Given the description of an element on the screen output the (x, y) to click on. 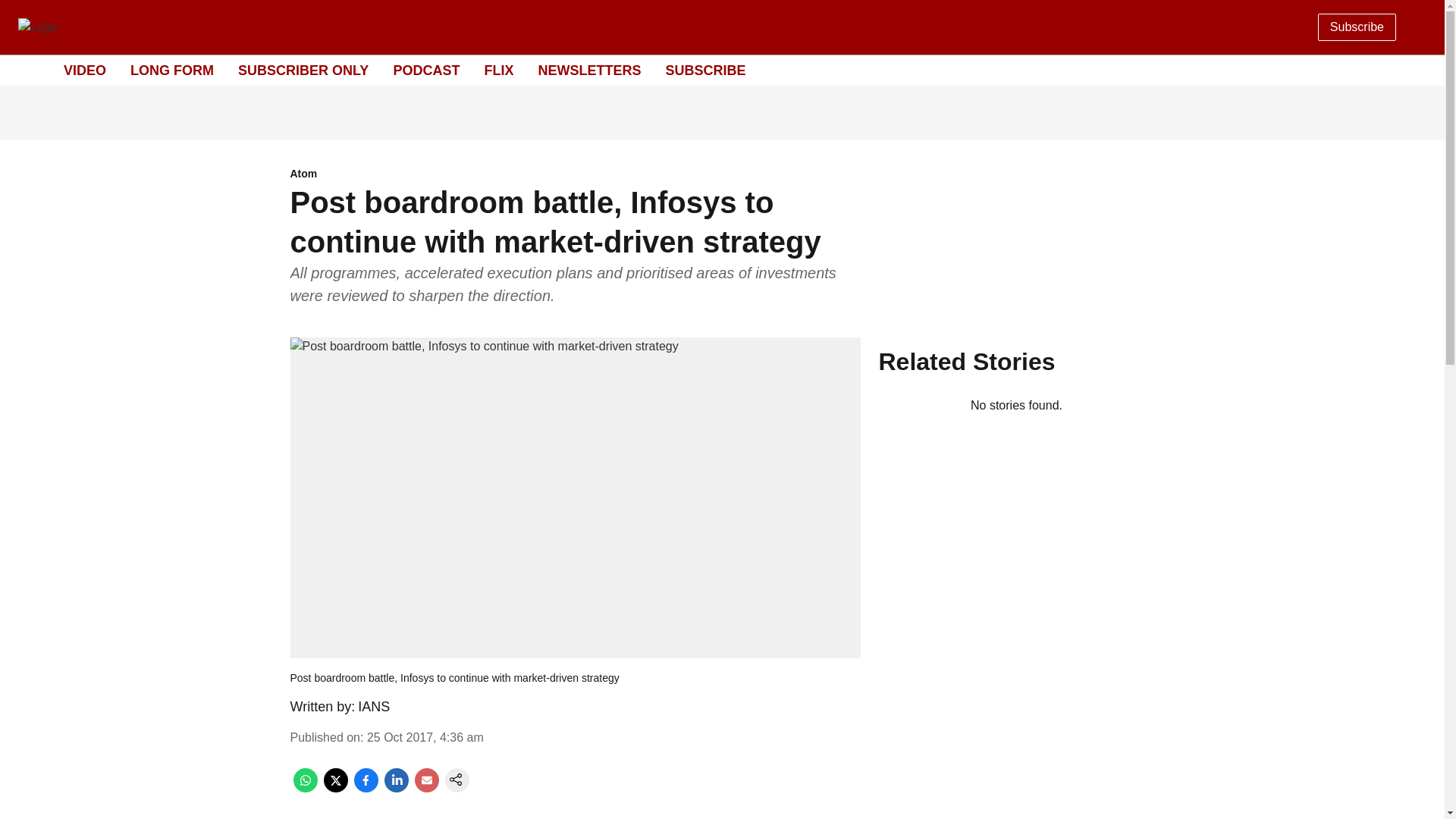
2017-10-25 04:36 (424, 737)
NEWSLETTERS (588, 70)
PODCAST (426, 70)
VIDEO (85, 70)
FLIX (498, 70)
SUBSCRIBE (705, 70)
LONG FORM (172, 70)
Atom (574, 174)
IANS (374, 706)
